Given the description of an element on the screen output the (x, y) to click on. 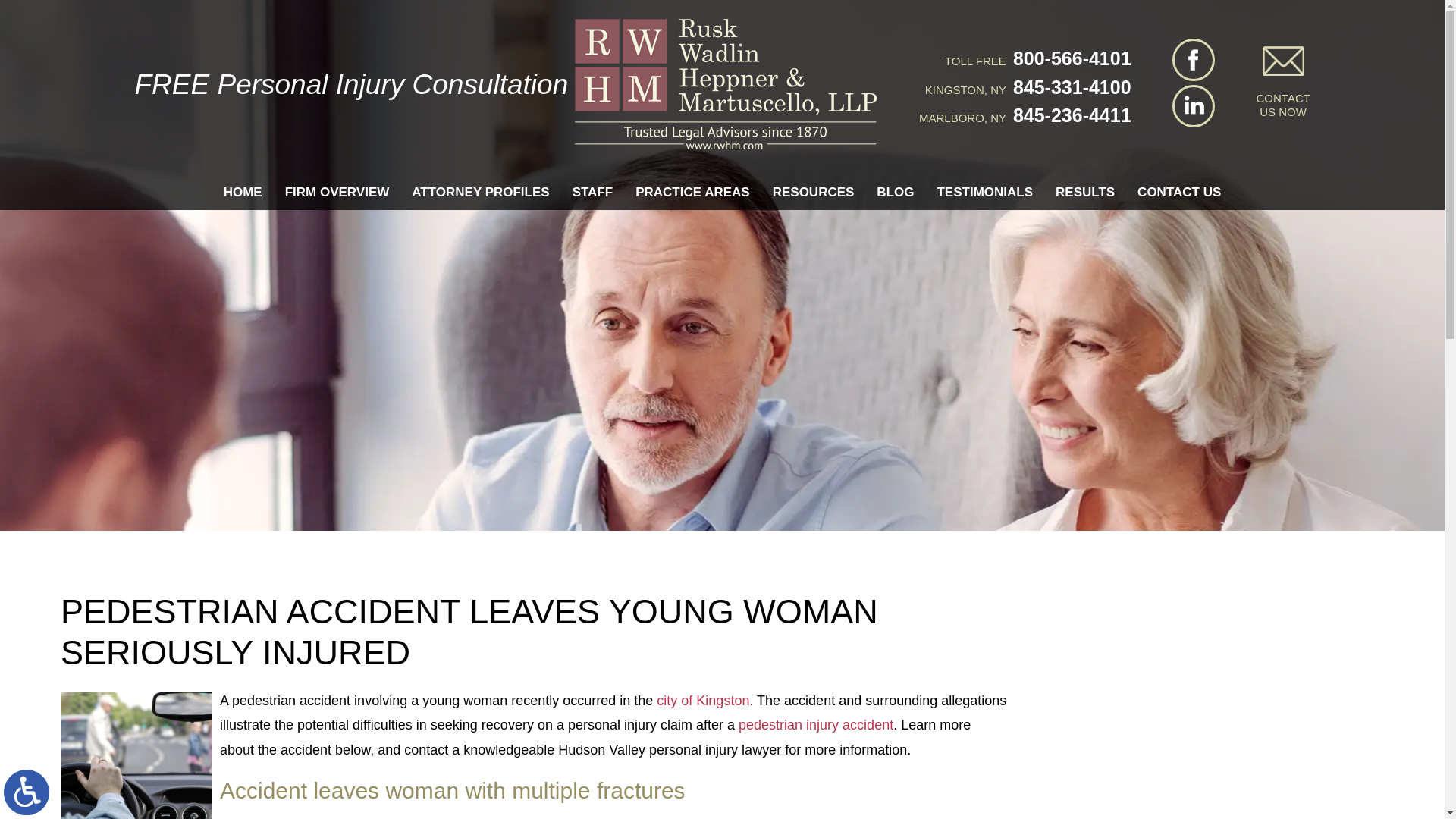
845-236-4411 (1070, 115)
800-566-4101 (1070, 57)
car almost hits Pedestrian (136, 755)
FIRM OVERVIEW (337, 192)
ATTORNEY PROFILES (480, 192)
845-331-4100 (1070, 86)
CONTACT US NOW (1281, 81)
PRACTICE AREAS (692, 192)
STAFF (593, 192)
Switch to ADA Accessible Theme (26, 791)
HOME (242, 192)
